Given the description of an element on the screen output the (x, y) to click on. 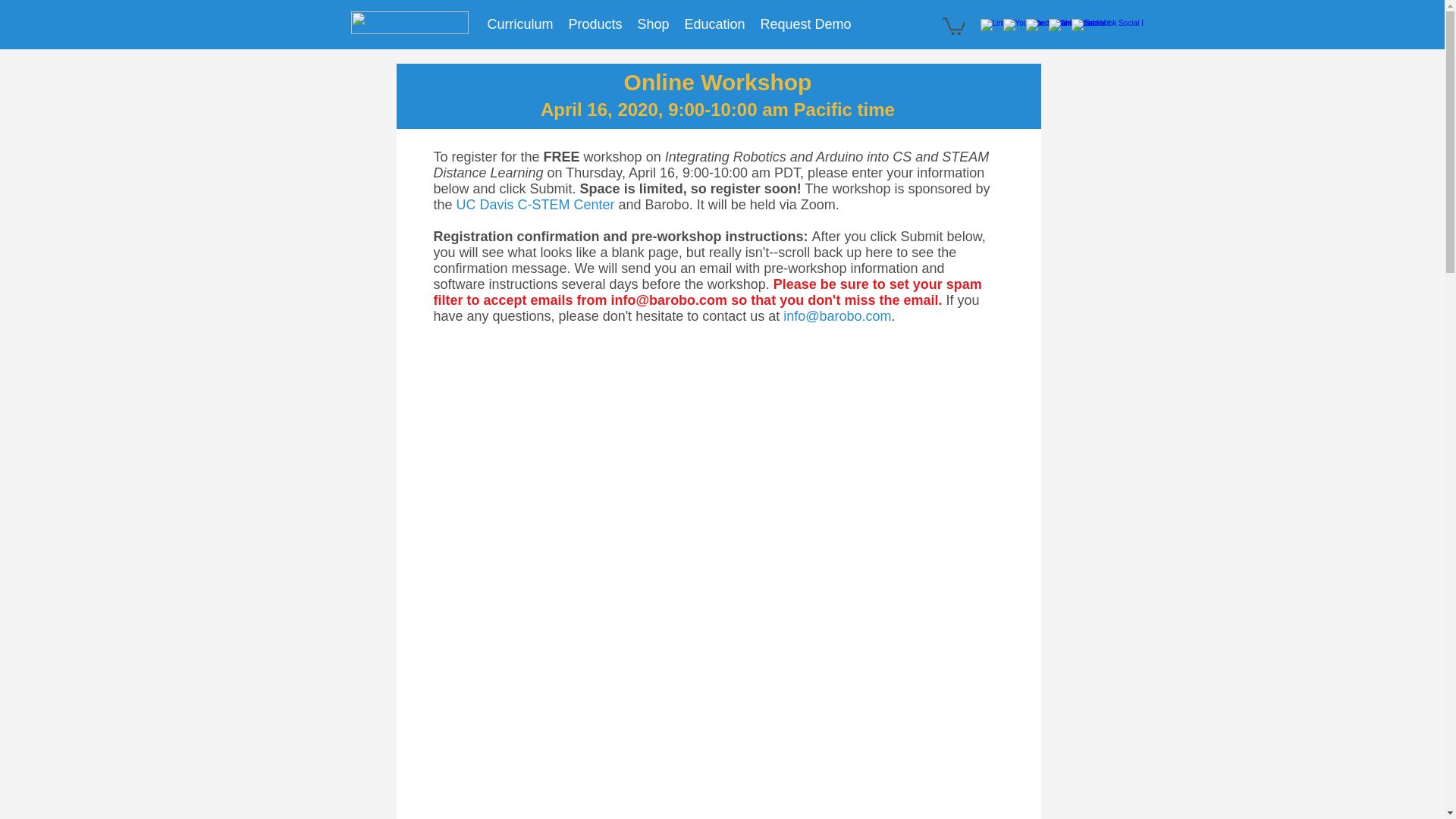
Request Demo (805, 24)
Shop (652, 24)
